Given the description of an element on the screen output the (x, y) to click on. 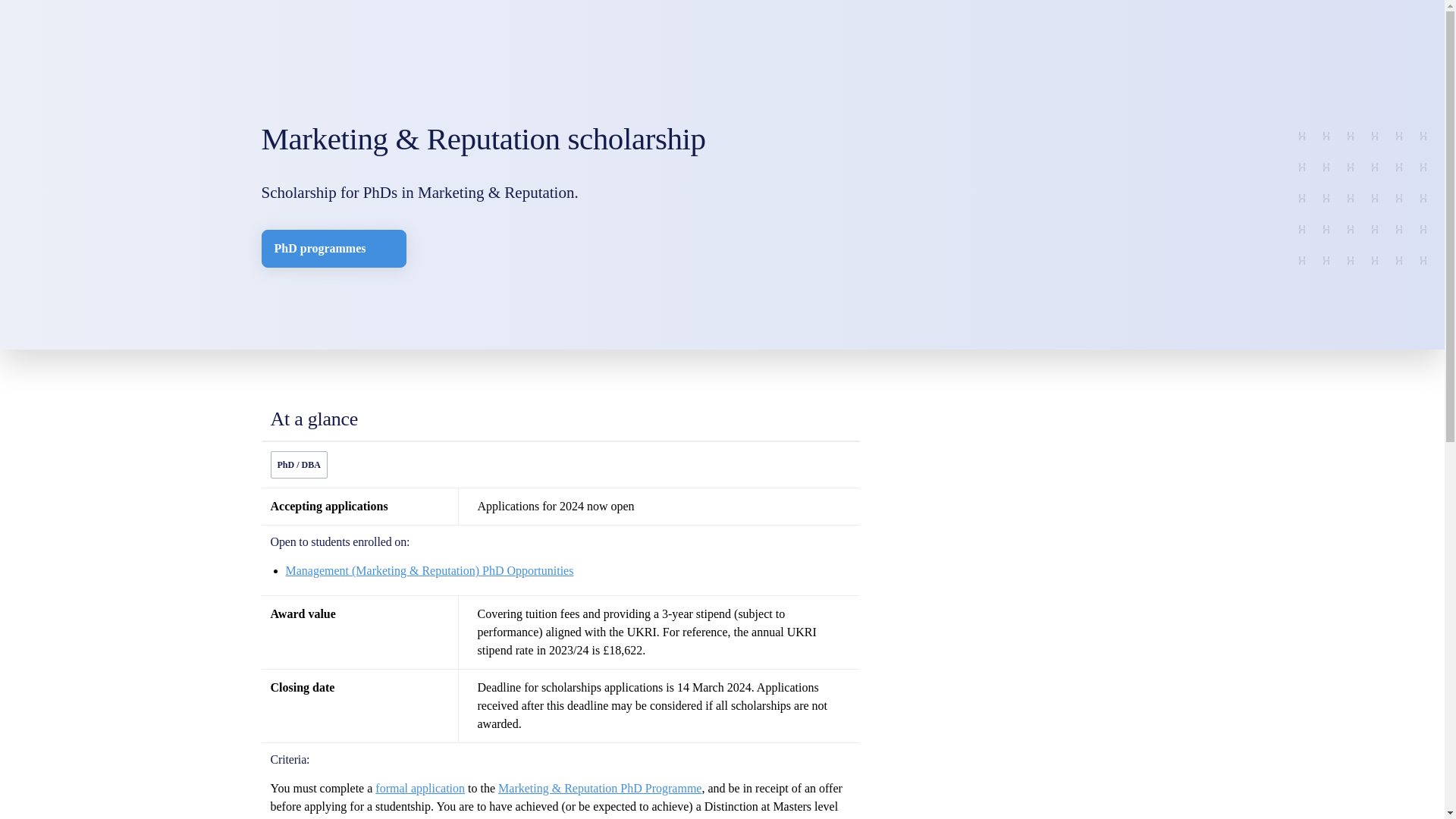
PhD programmes (333, 248)
formal application (419, 788)
